Given the description of an element on the screen output the (x, y) to click on. 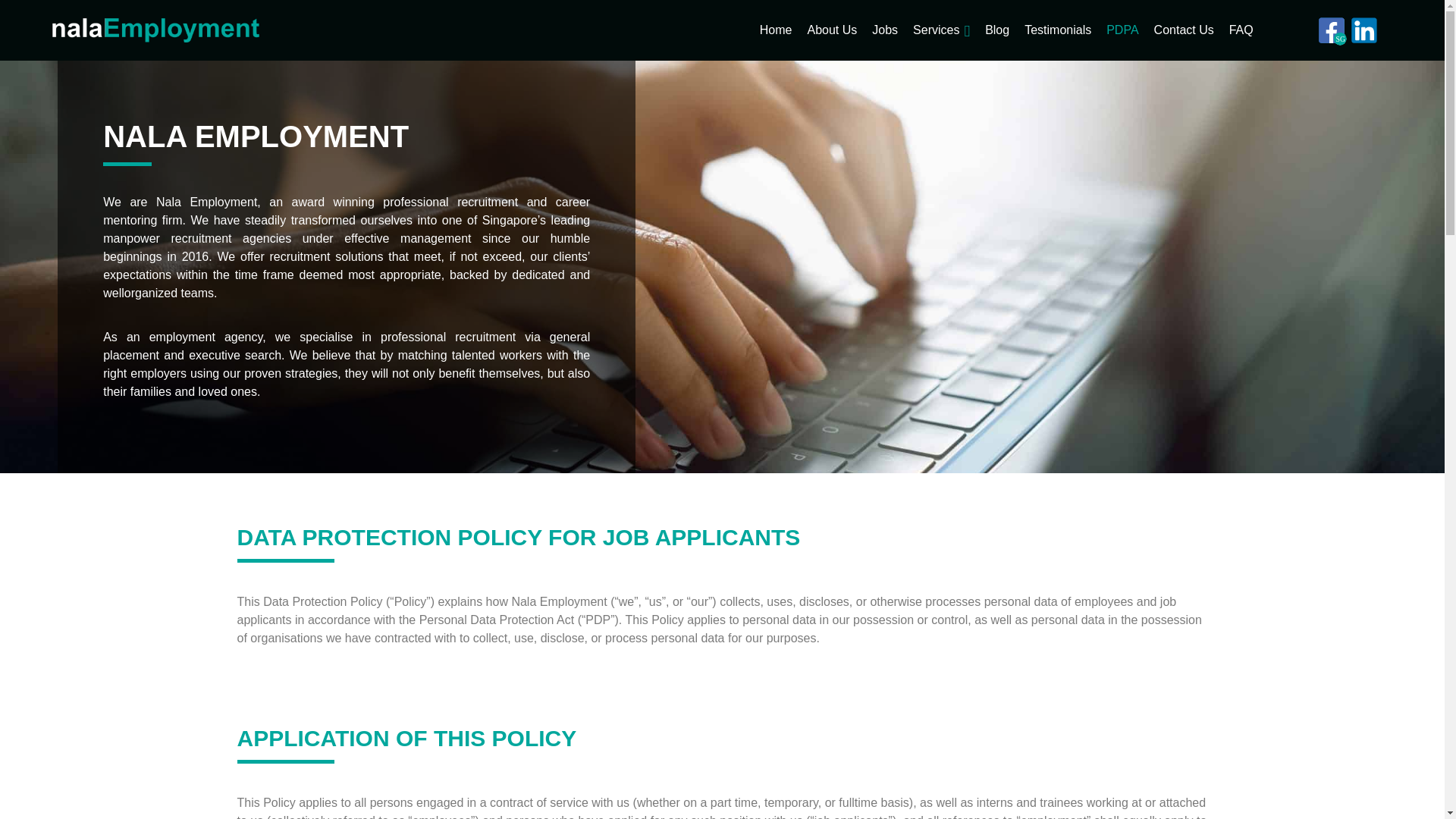
FAQ (1240, 30)
About Us (831, 30)
Testimonials (1057, 30)
Blog (997, 30)
SG (1331, 30)
PDPA (1122, 30)
Contact Us (1184, 30)
Services (935, 30)
Jobs (885, 30)
SG (1331, 30)
